Given the description of an element on the screen output the (x, y) to click on. 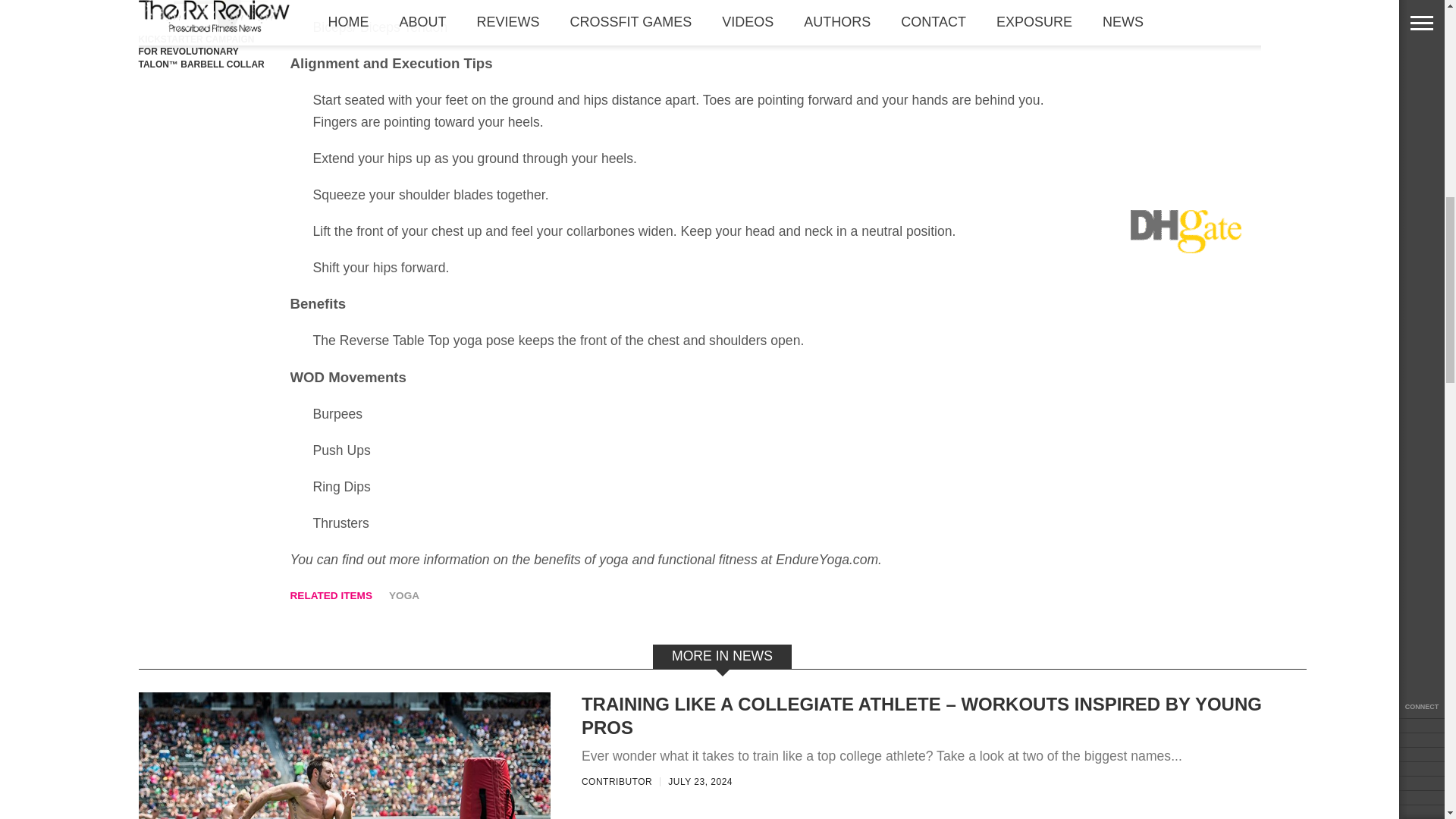
YOGA (403, 596)
